Given the description of an element on the screen output the (x, y) to click on. 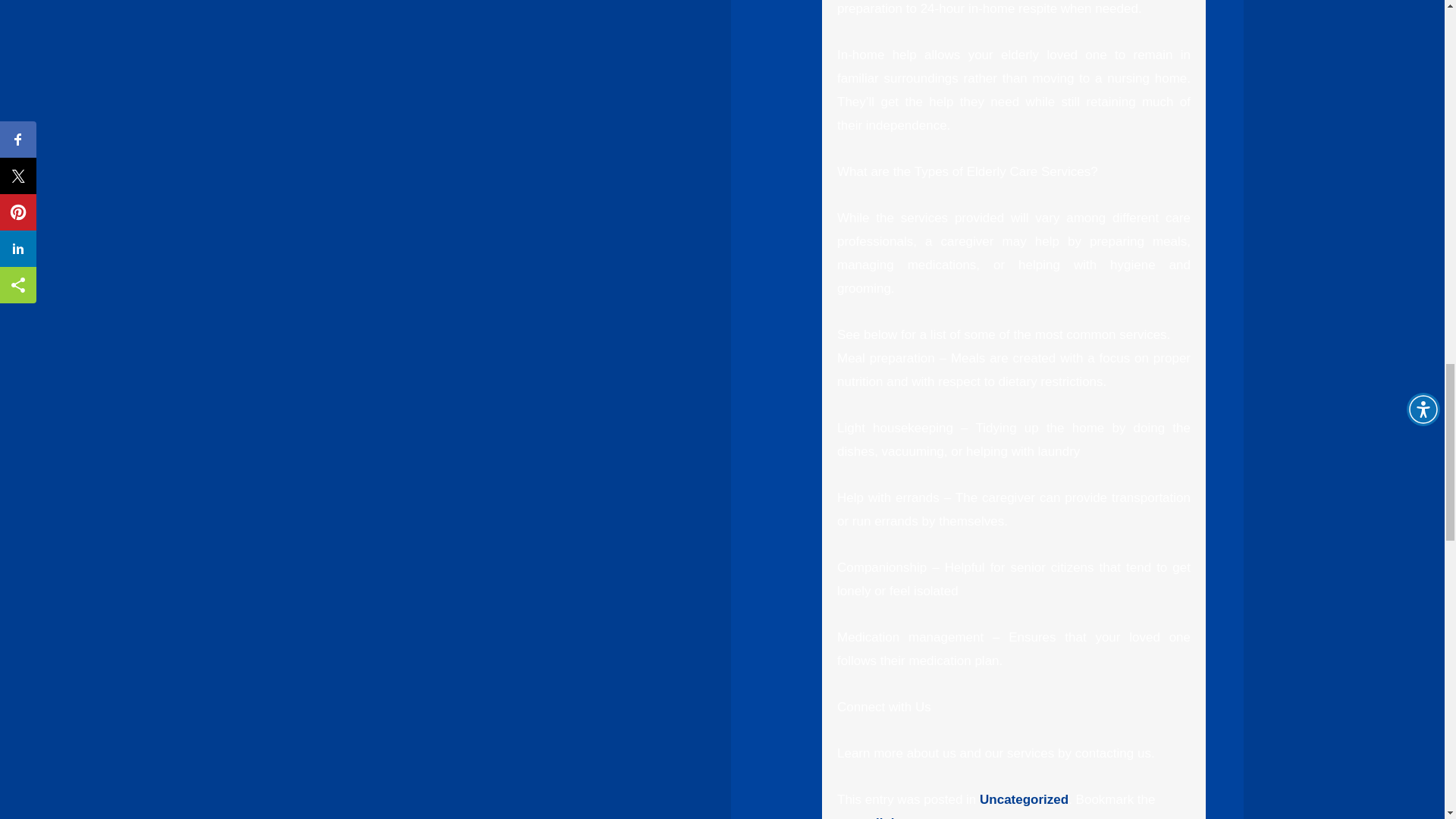
Uncategorized (1023, 798)
permalink (867, 817)
